Given the description of an element on the screen output the (x, y) to click on. 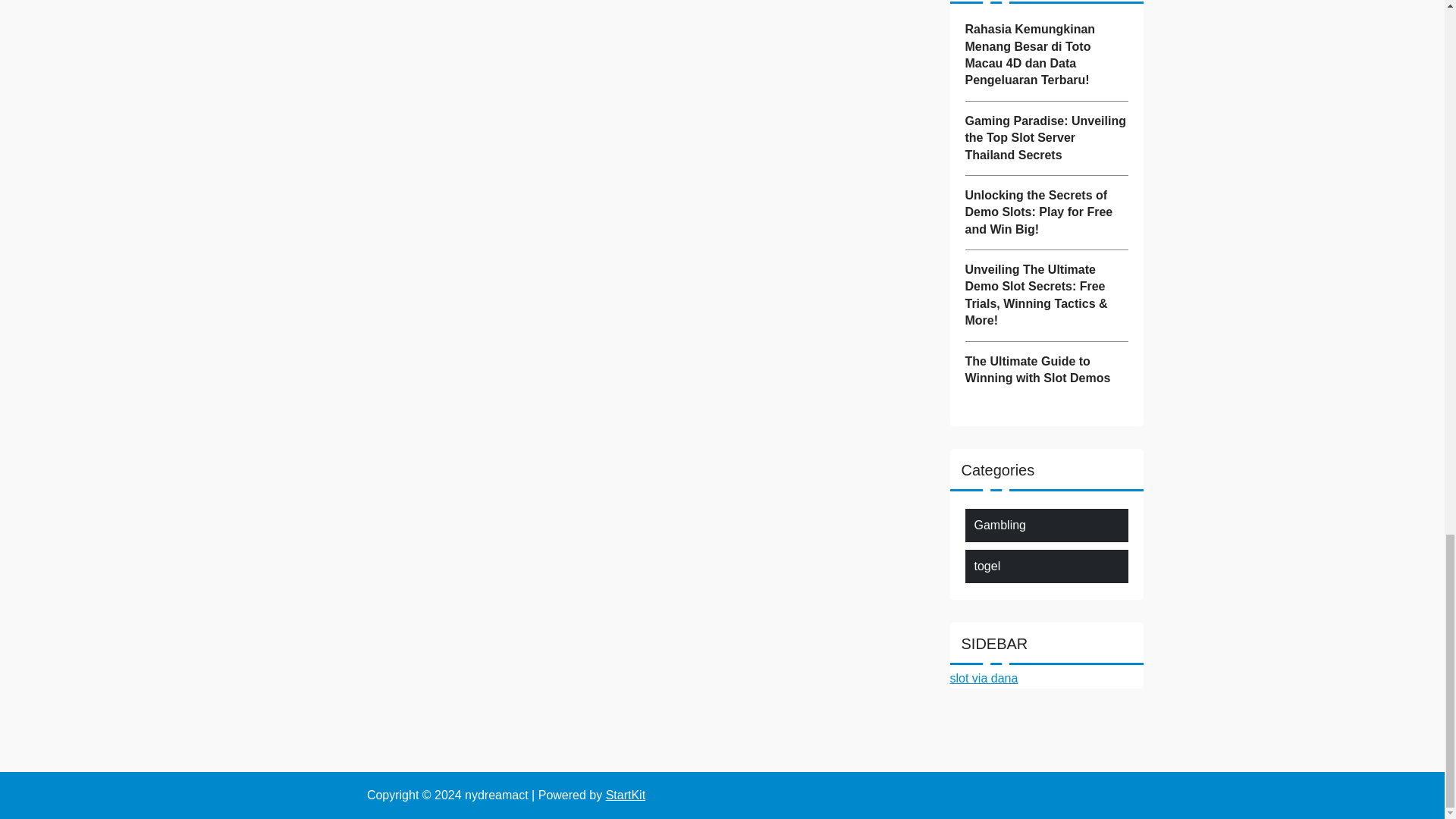
Gambling (999, 525)
The Ultimate Guide to Winning with Slot Demos (1044, 369)
